Given the description of an element on the screen output the (x, y) to click on. 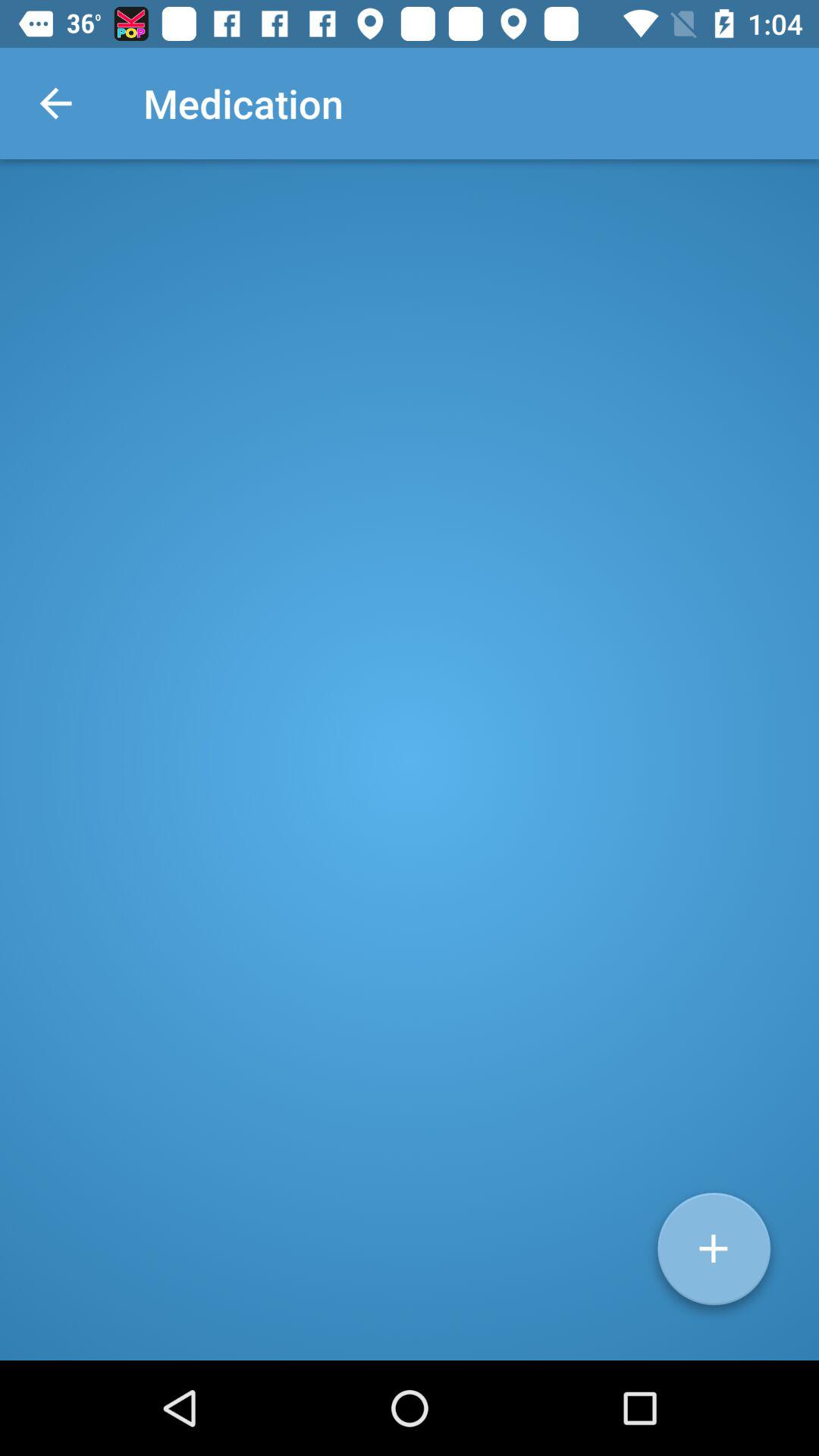
open icon at the center (409, 759)
